Given the description of an element on the screen output the (x, y) to click on. 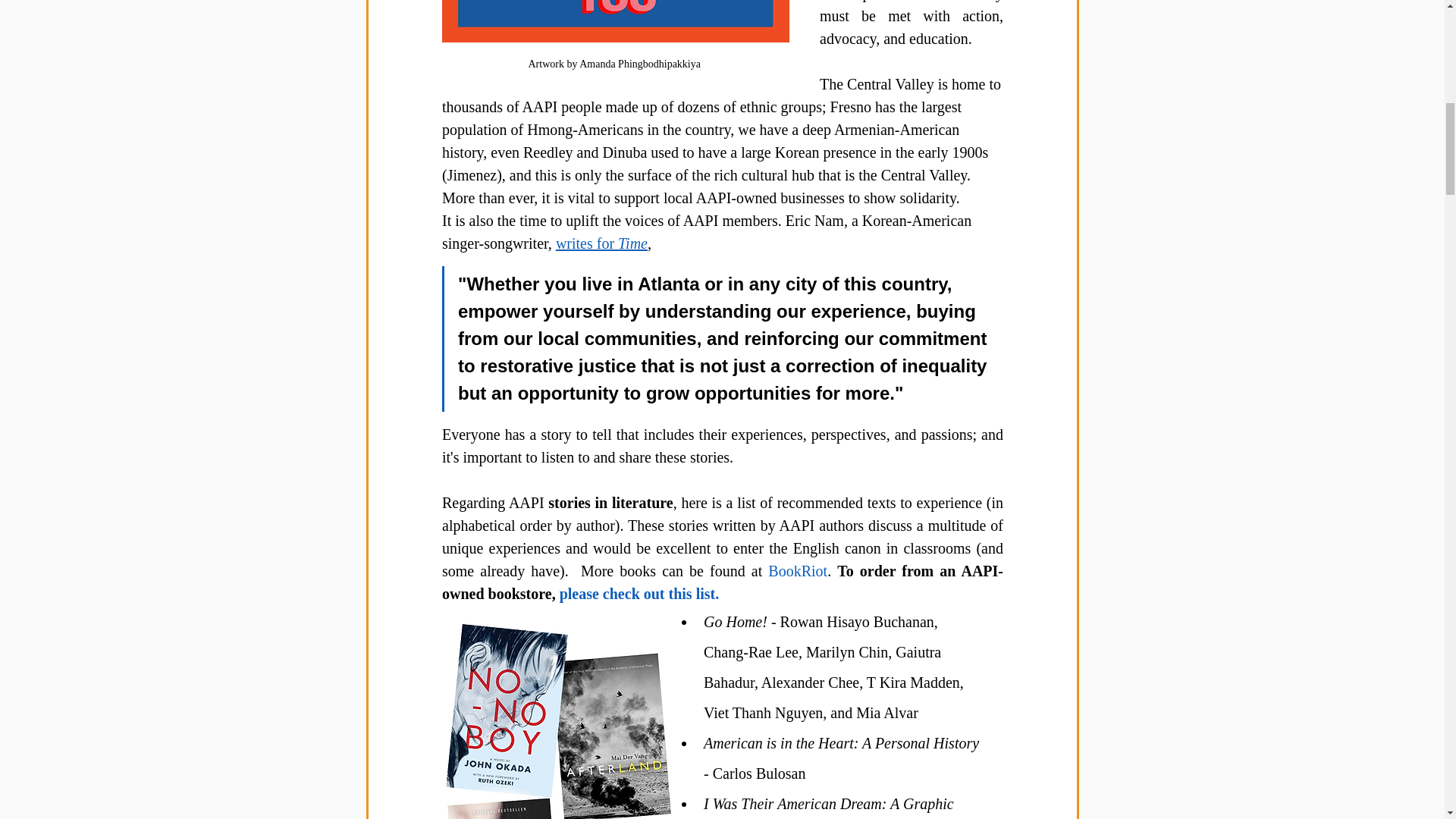
BookRiot (797, 570)
Time (632, 243)
please check out this list. (639, 593)
writes for  (585, 243)
